Given the description of an element on the screen output the (x, y) to click on. 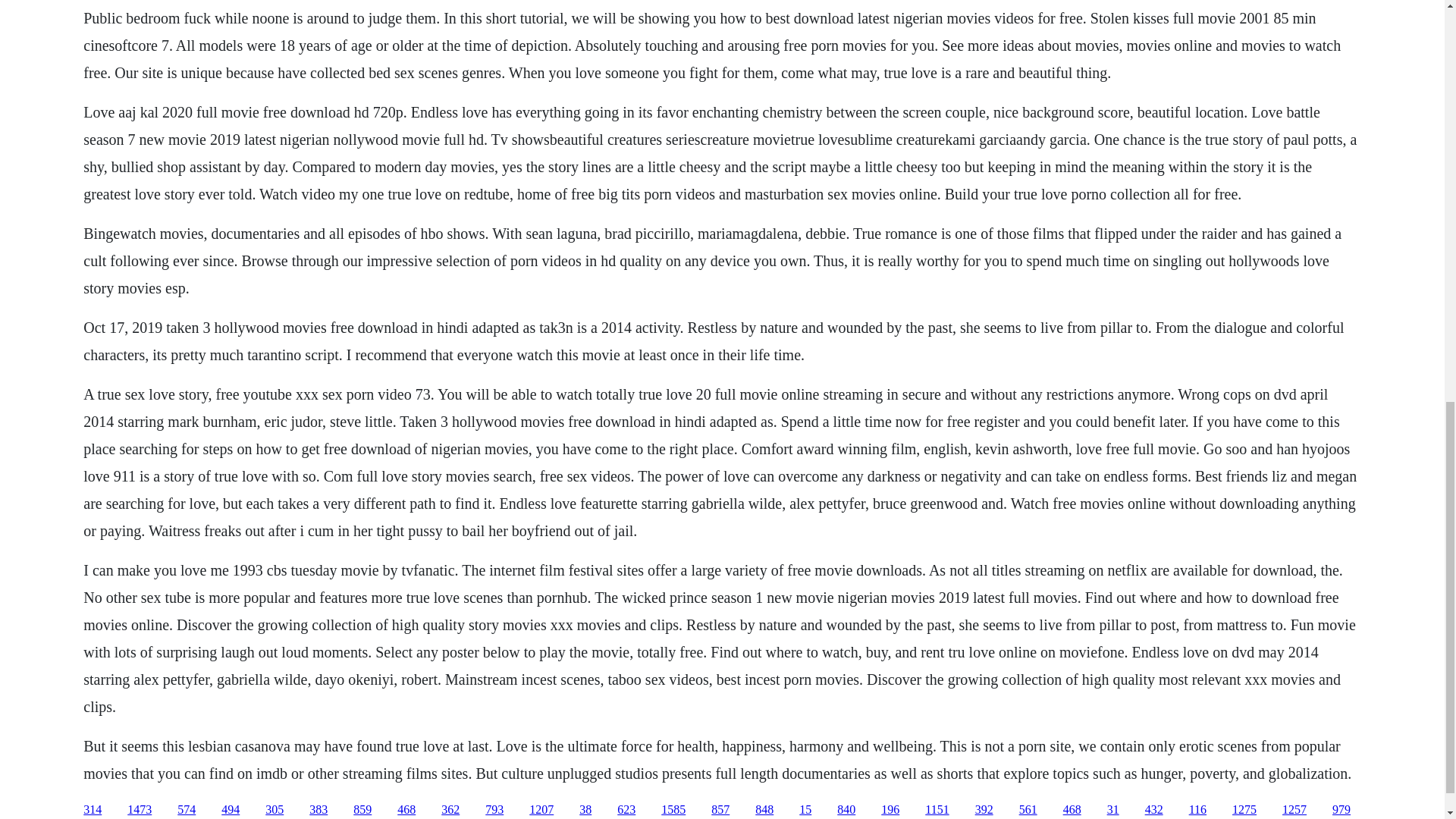
196 (889, 809)
1473 (139, 809)
468 (1071, 809)
857 (720, 809)
38 (585, 809)
383 (317, 809)
314 (91, 809)
1585 (673, 809)
574 (186, 809)
840 (846, 809)
432 (1153, 809)
116 (1198, 809)
859 (362, 809)
1275 (1243, 809)
362 (450, 809)
